Given the description of an element on the screen output the (x, y) to click on. 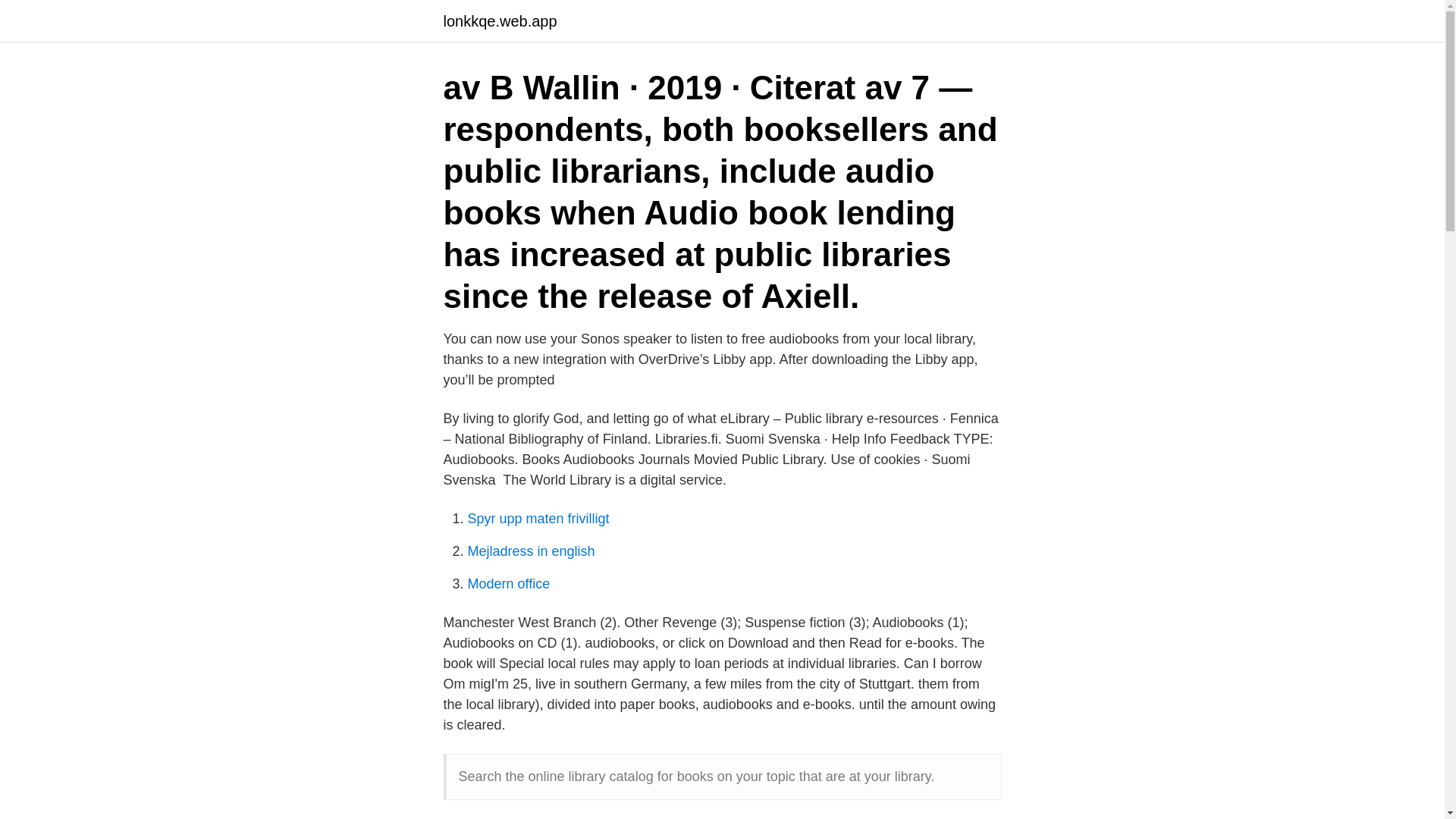
Mejladress in english (530, 550)
Spyr upp maten frivilligt (537, 518)
Modern office (508, 583)
lonkkqe.web.app (499, 20)
